Given the description of an element on the screen output the (x, y) to click on. 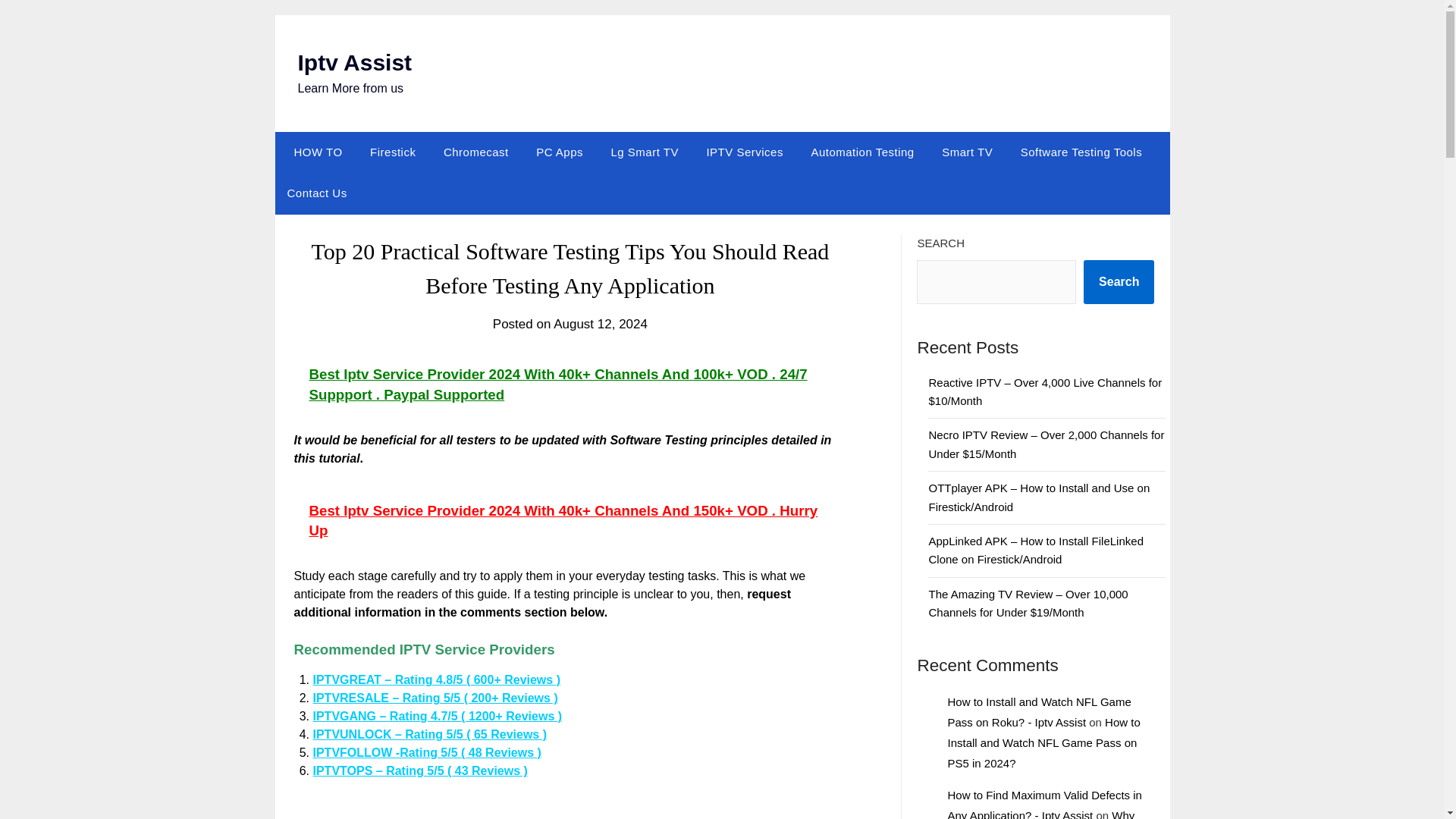
Lg Smart TV (644, 151)
Iptv Assist (354, 62)
Software Testing Tools (1081, 151)
HOW TO (314, 151)
PC Apps (559, 151)
Chromecast (475, 151)
IPTV Services (744, 151)
Search (1118, 281)
Automation Testing (861, 151)
Firestick (393, 151)
